Given the description of an element on the screen output the (x, y) to click on. 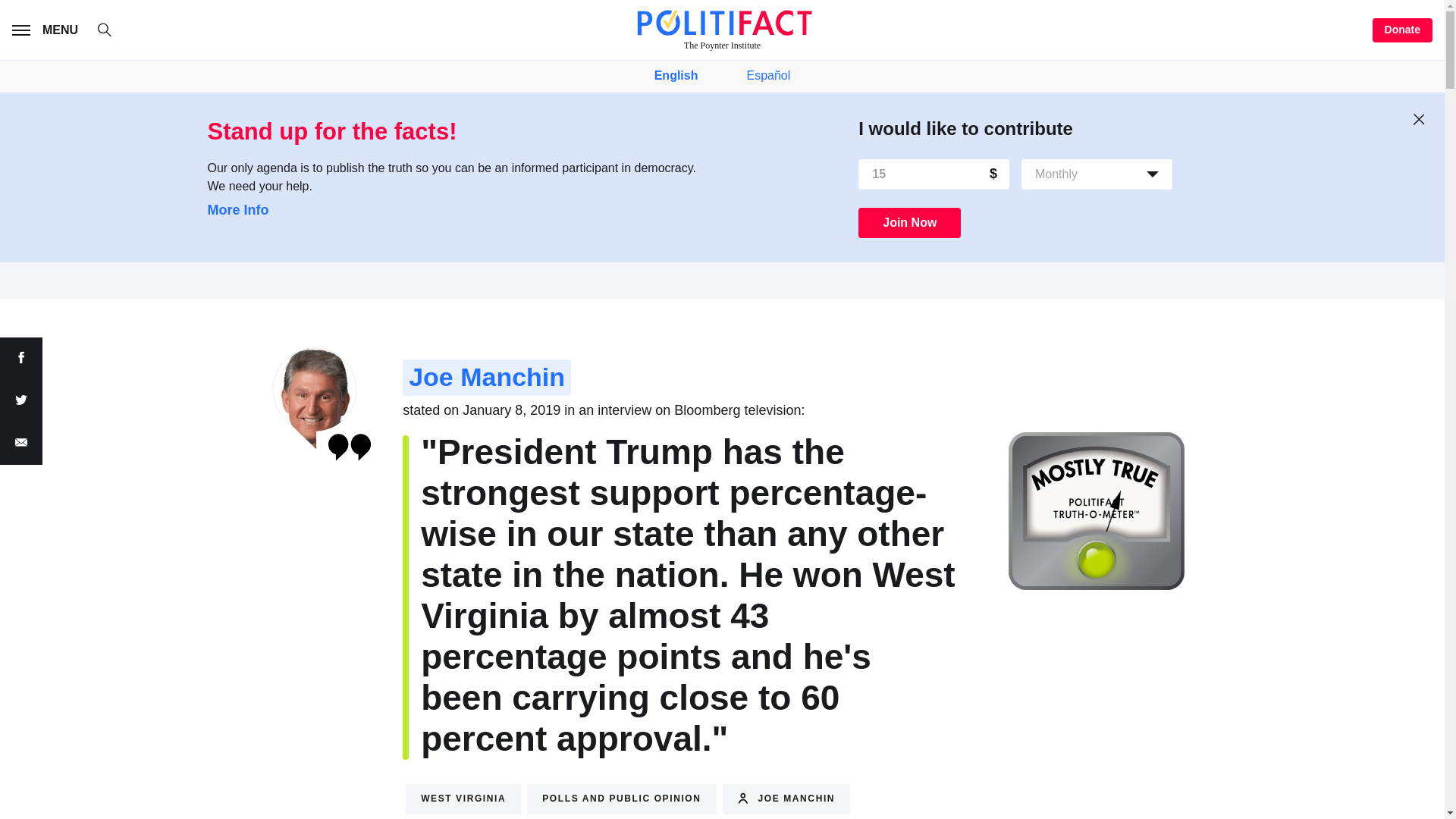
The Poynter Institute (721, 29)
Polls and Public Opinion (621, 798)
MENU (47, 30)
West Virginia (463, 798)
Search (111, 31)
Joe Manchin (786, 798)
Joe Manchin (486, 377)
Donate (1402, 30)
